Given the description of an element on the screen output the (x, y) to click on. 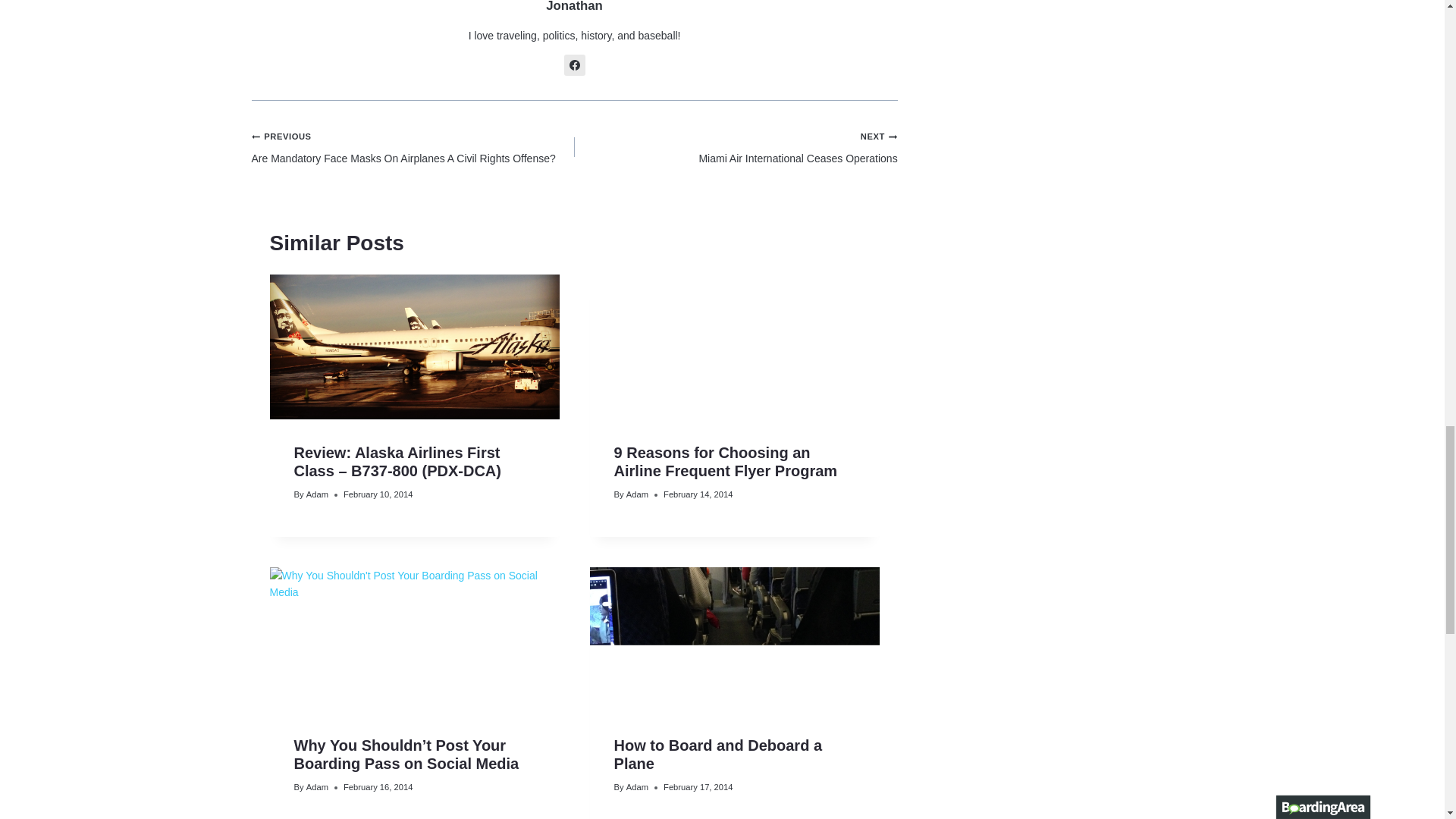
Adam (317, 493)
Jonathan (736, 147)
Follow Jonathan on Facebook (574, 6)
Posts by Jonathan (574, 65)
